Given the description of an element on the screen output the (x, y) to click on. 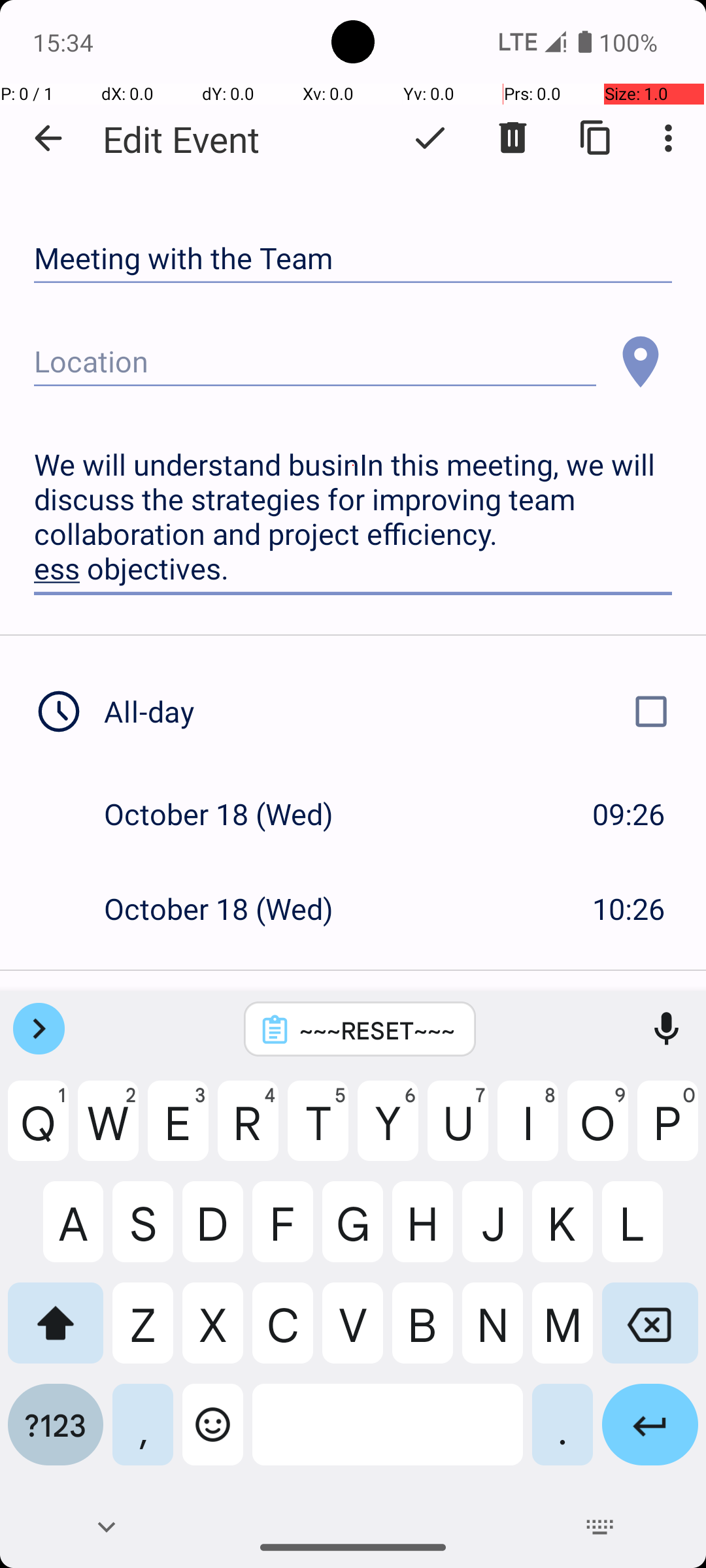
We will understand businIn this meeting, we will discuss the strategies for improving team collaboration and project efficiency.
ess objectives. Element type: android.widget.EditText (352, 516)
October 18 (Wed) Element type: android.widget.TextView (232, 813)
09:26 Element type: android.widget.TextView (628, 813)
10:26 Element type: android.widget.TextView (628, 908)
